Given the description of an element on the screen output the (x, y) to click on. 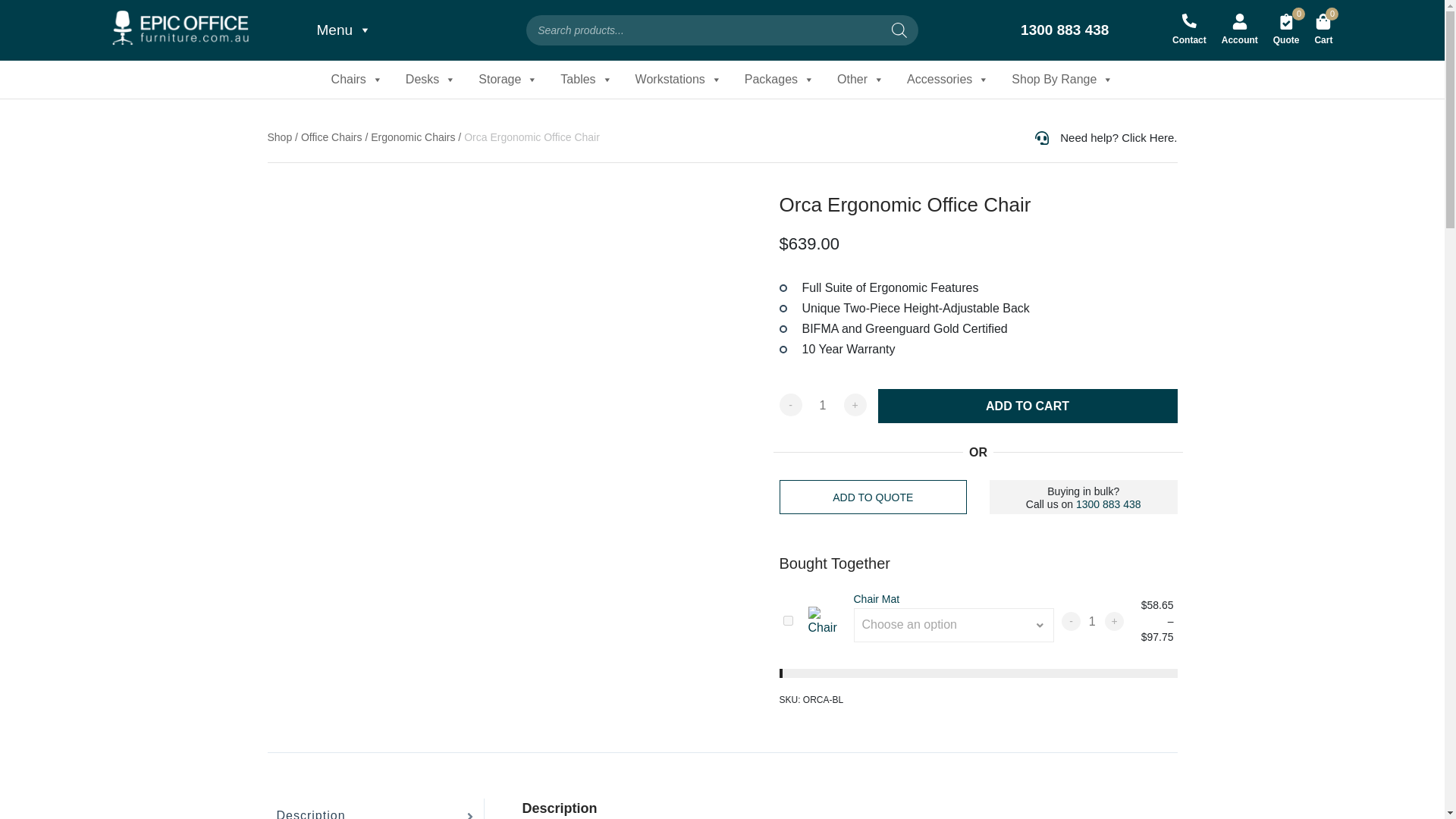
1 (822, 405)
1739 (787, 620)
